Given the description of an element on the screen output the (x, y) to click on. 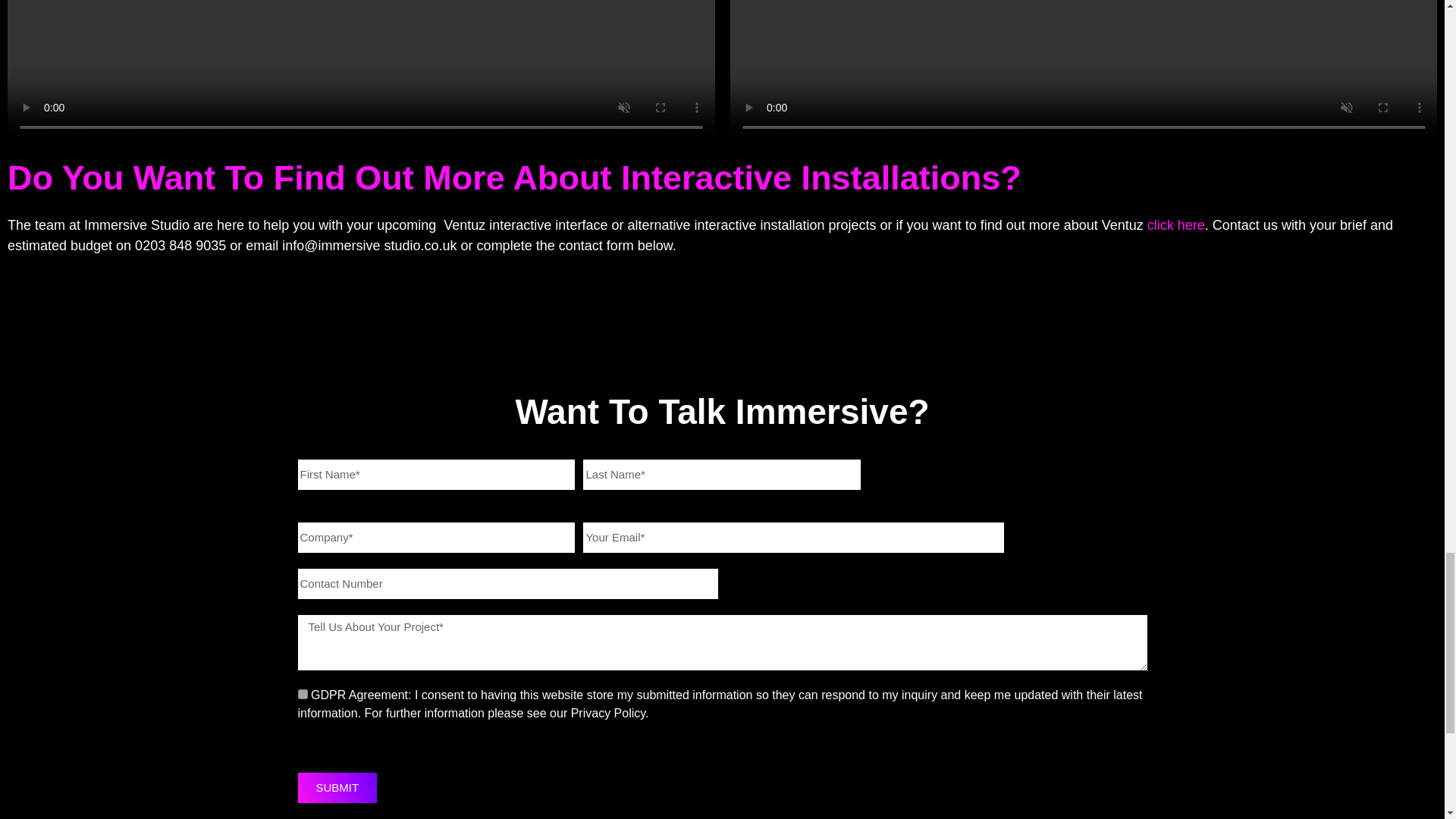
on (302, 694)
